Given the description of an element on the screen output the (x, y) to click on. 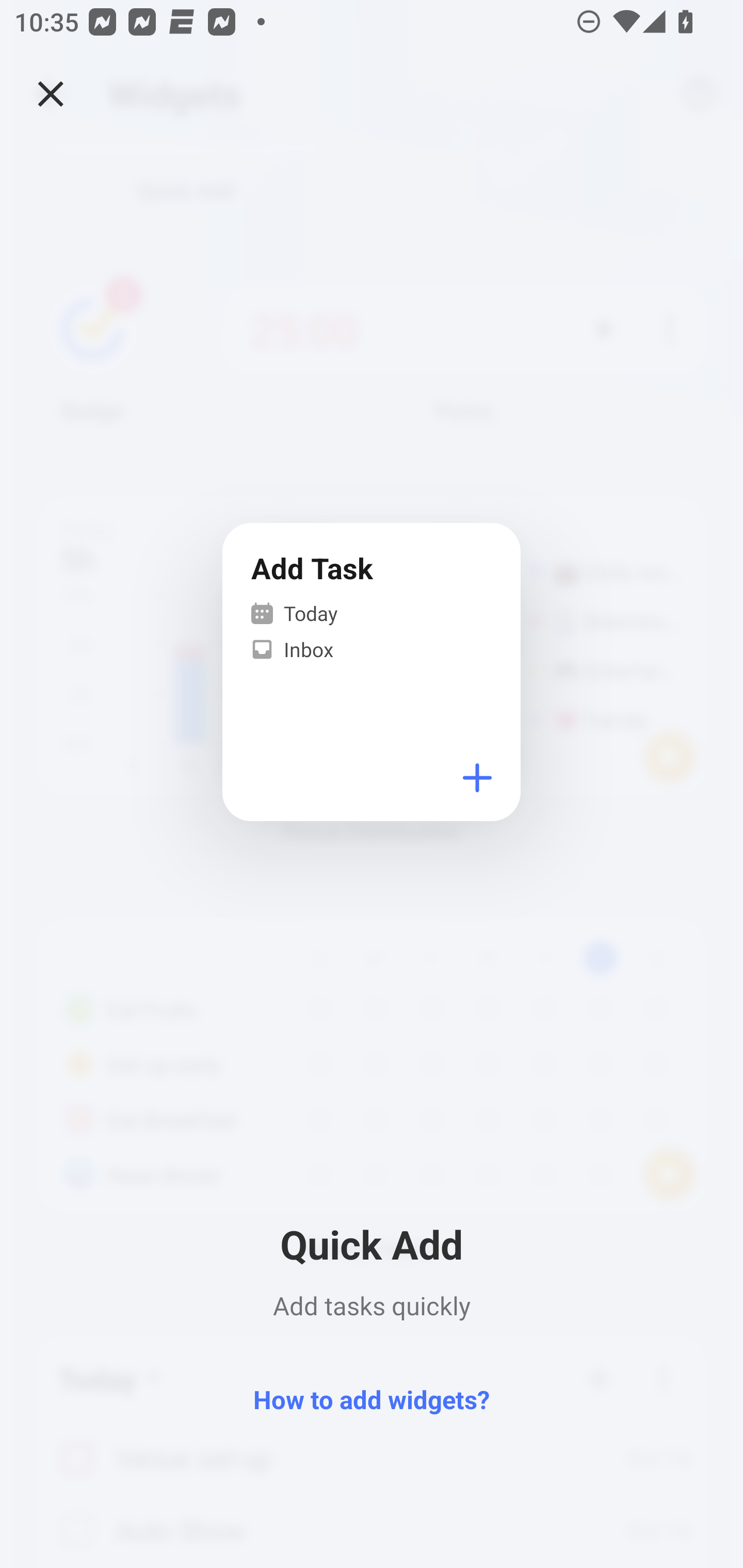
Add Task Today Inbox (371, 672)
How to add widgets? (371, 1398)
